Given the description of an element on the screen output the (x, y) to click on. 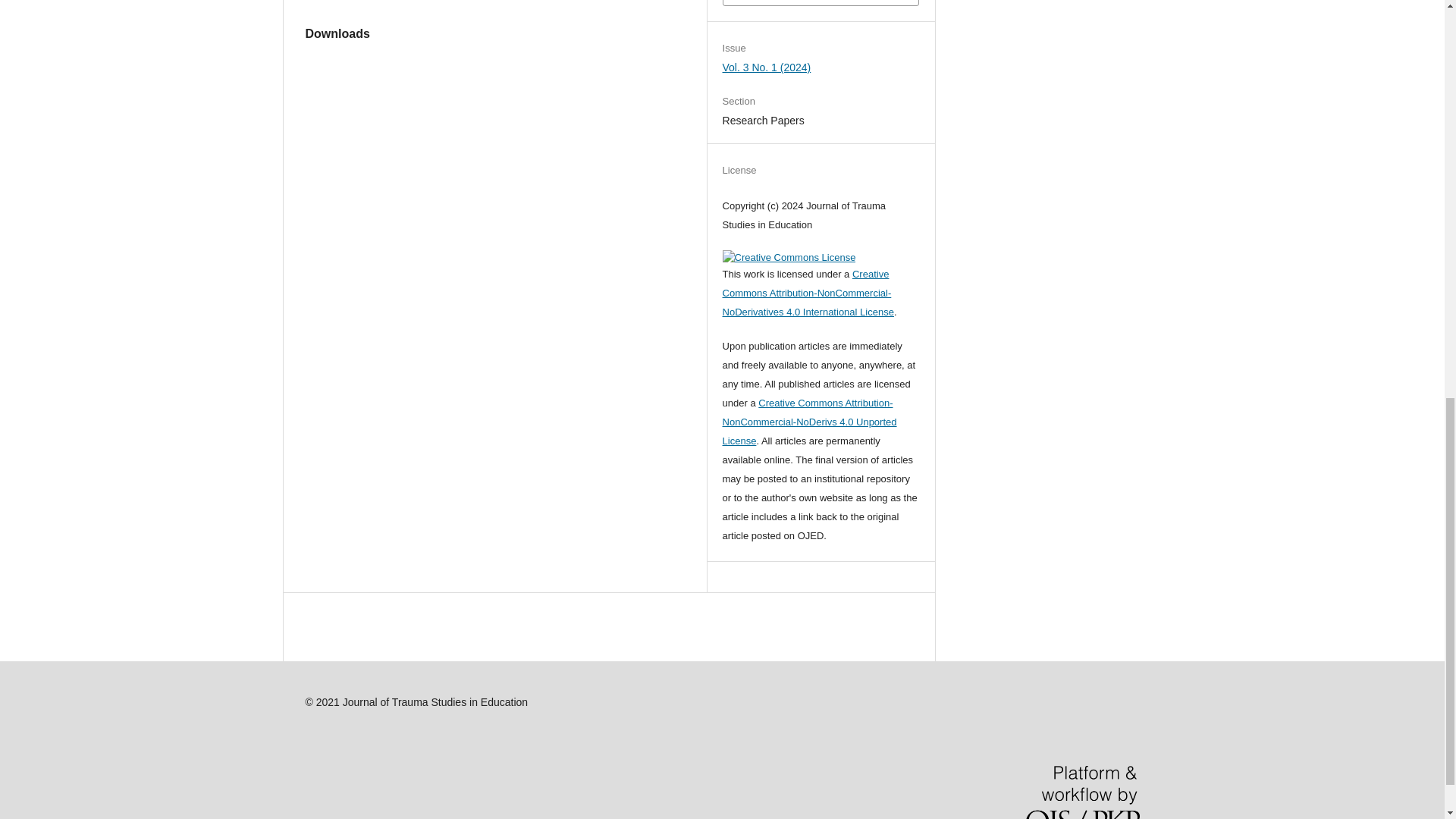
More Citation Formats (820, 2)
